Given the description of an element on the screen output the (x, y) to click on. 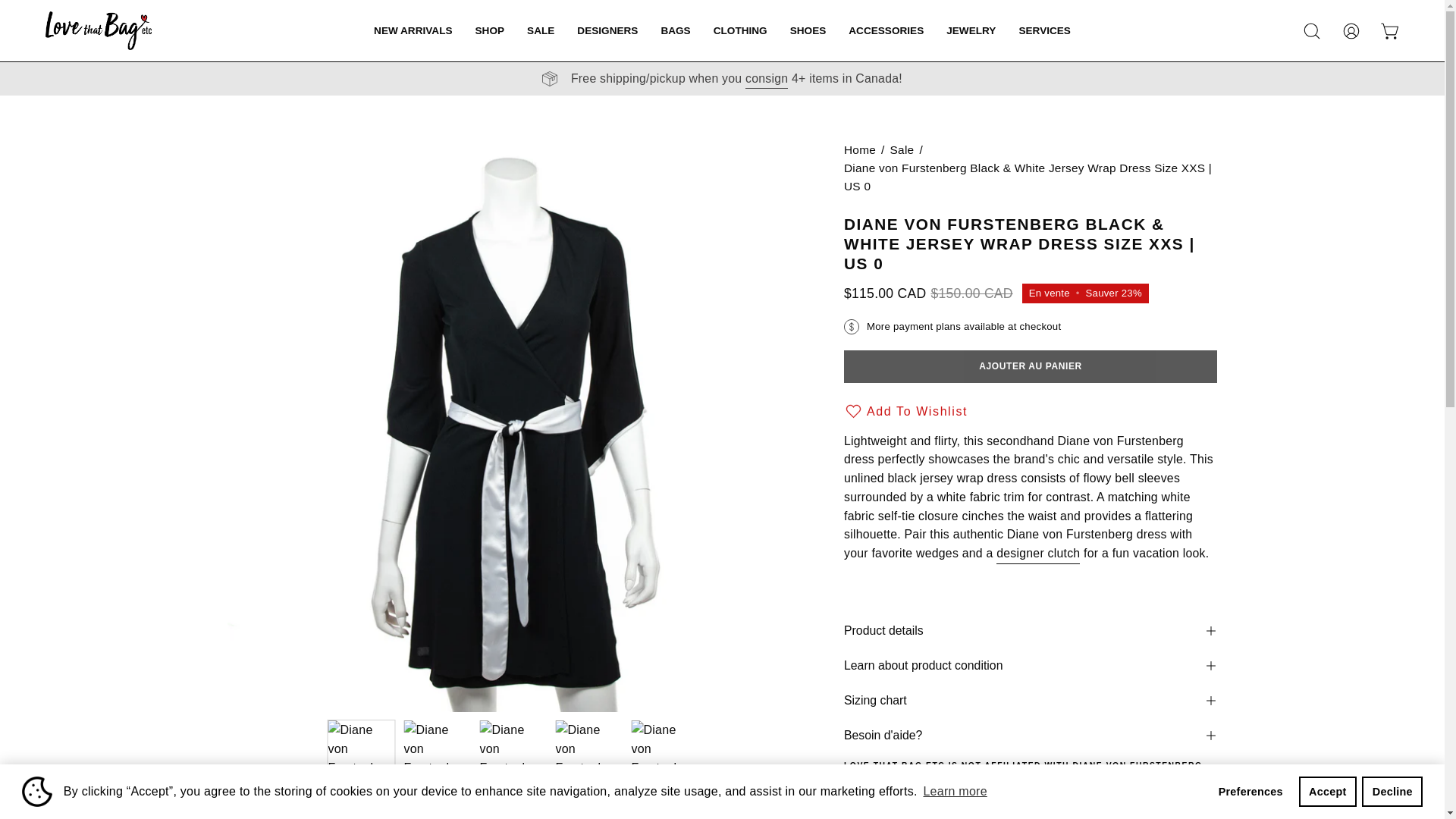
Learn more (955, 791)
Retour a la page d'acceuil (860, 149)
Ouvrir la barre de recherche (1311, 30)
Decline (1391, 791)
Learn about luxury consignment in Canada (766, 78)
Preferences (1250, 791)
Accept (1327, 791)
